Given the description of an element on the screen output the (x, y) to click on. 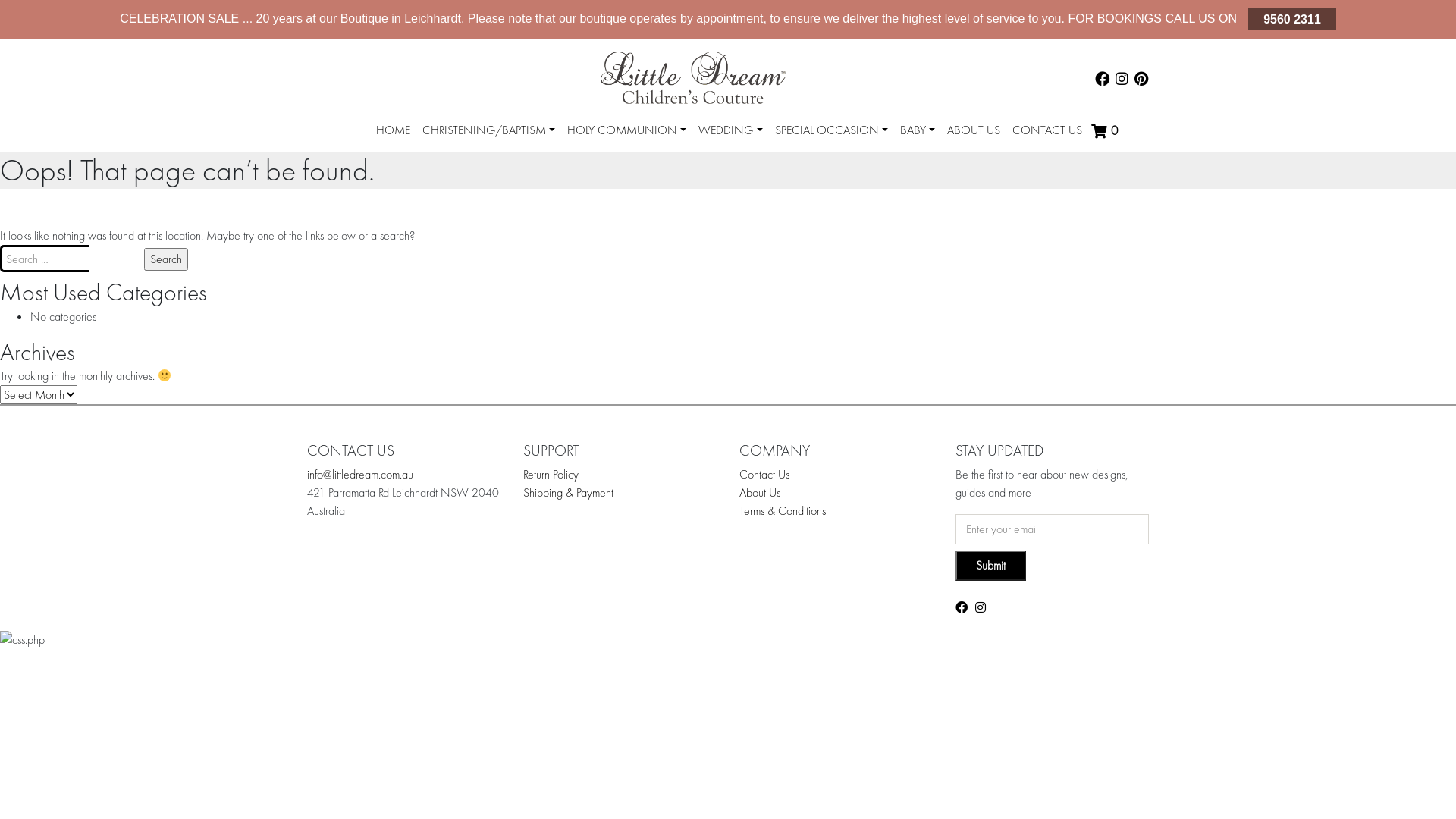
CHRISTENING/BAPTISM Element type: text (488, 130)
Submit Element type: text (990, 565)
info@littledream.com.au Element type: text (360, 474)
HOME Element type: text (393, 130)
CONTACT US Element type: text (1047, 130)
Holy Communion Girl Gowns & Dresses Element type: text (670, 160)
Contact Us Element type: text (764, 474)
ABOUT US Element type: text (973, 130)
Christening Wear Accessories Element type: text (525, 163)
Terms & Conditions Element type: text (782, 510)
Unisex Baby Wear Element type: text (969, 160)
SPECIAL OCCASION Element type: text (831, 130)
Wedding Girl Accessories Element type: text (800, 163)
Wedding Flower Girl Dresses Element type: text (793, 160)
Holy Communion Girl Accessories Element type: text (677, 163)
Shipping & Payment Element type: text (568, 492)
9560 2311 Element type: text (1292, 18)
HOLY COMMUNION Element type: text (626, 130)
Special Occasion Girl Clothing Element type: text (873, 163)
About Us Element type: text (759, 492)
Heirloom Gowns Element type: text (519, 160)
WEDDING Element type: text (730, 130)
Search Element type: text (166, 258)
Return Policy Element type: text (550, 474)
Baby Girl Accessories Element type: text (976, 163)
0 Element type: text (1105, 131)
BABY Element type: text (917, 130)
